Given the description of an element on the screen output the (x, y) to click on. 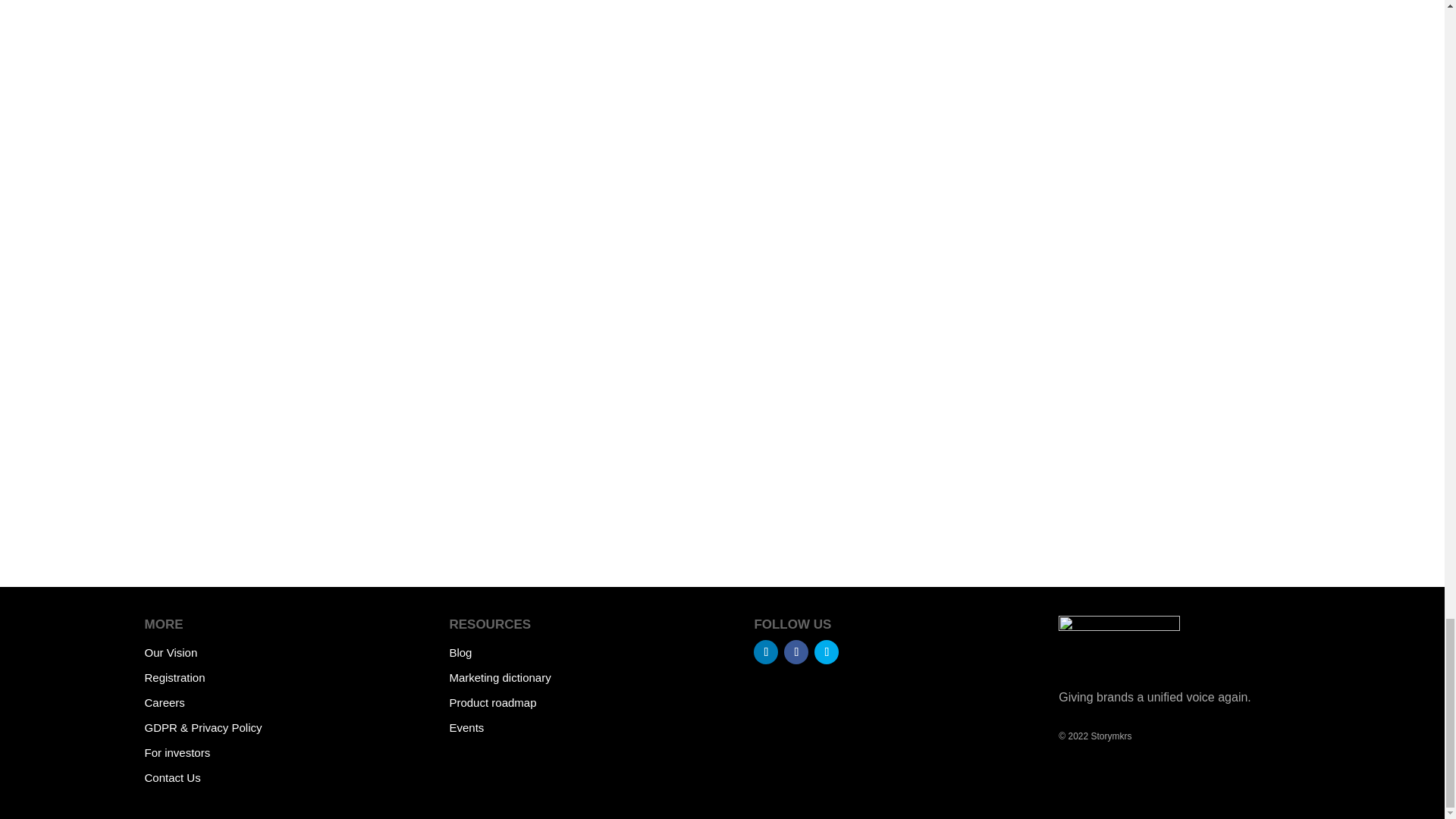
Follow on Facebook (796, 651)
Small logo without background - white text (1118, 635)
Our Vision (170, 652)
Blog (459, 652)
Events (465, 727)
Registration (174, 676)
Product roadmap (491, 702)
Blog (459, 652)
Contact Us (172, 777)
Follow on LinkedIn (765, 651)
